Given the description of an element on the screen output the (x, y) to click on. 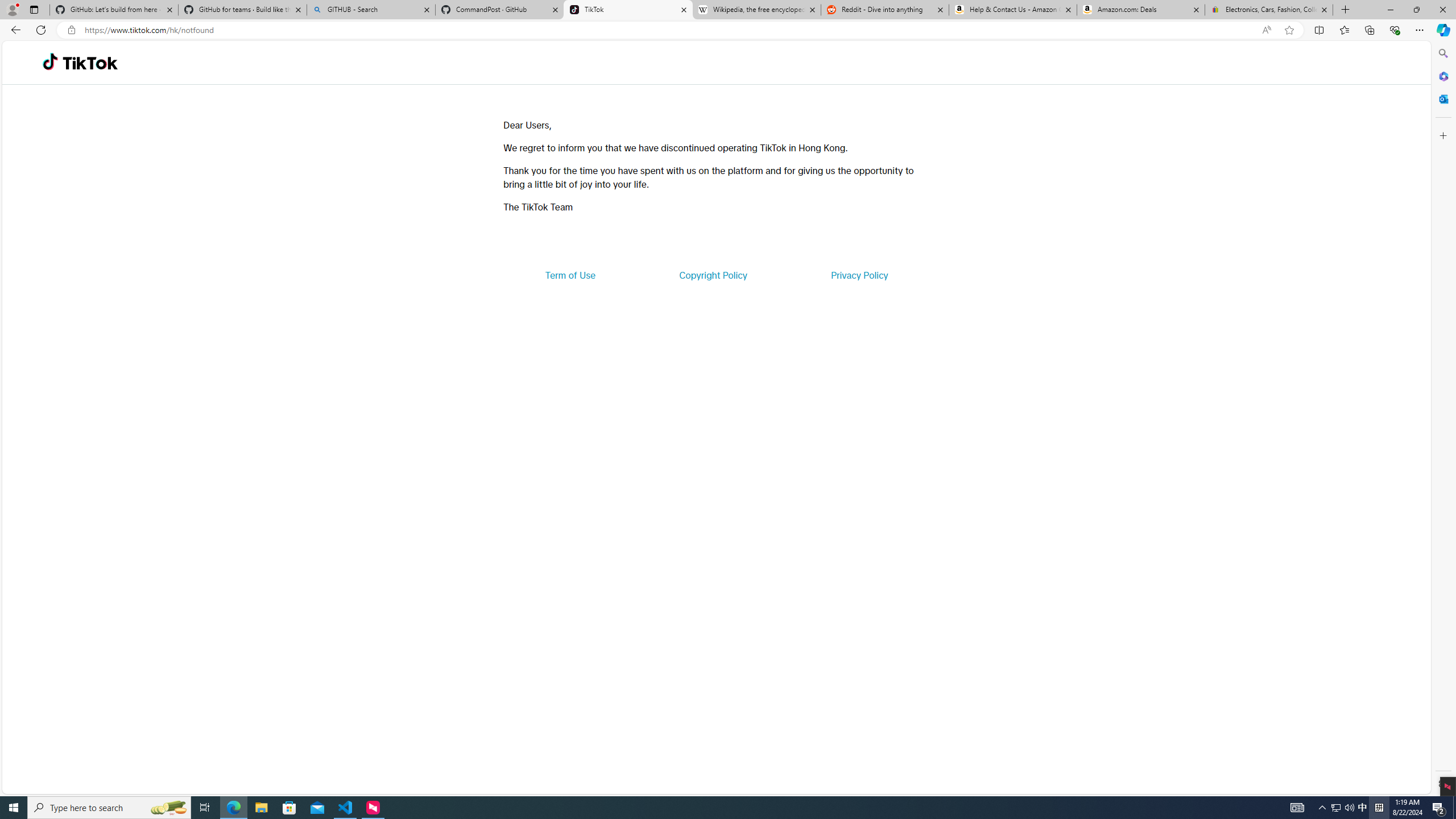
Wikipedia, the free encyclopedia (756, 9)
Electronics, Cars, Fashion, Collectibles & More | eBay (1268, 9)
GITHUB - Search (370, 9)
